Given the description of an element on the screen output the (x, y) to click on. 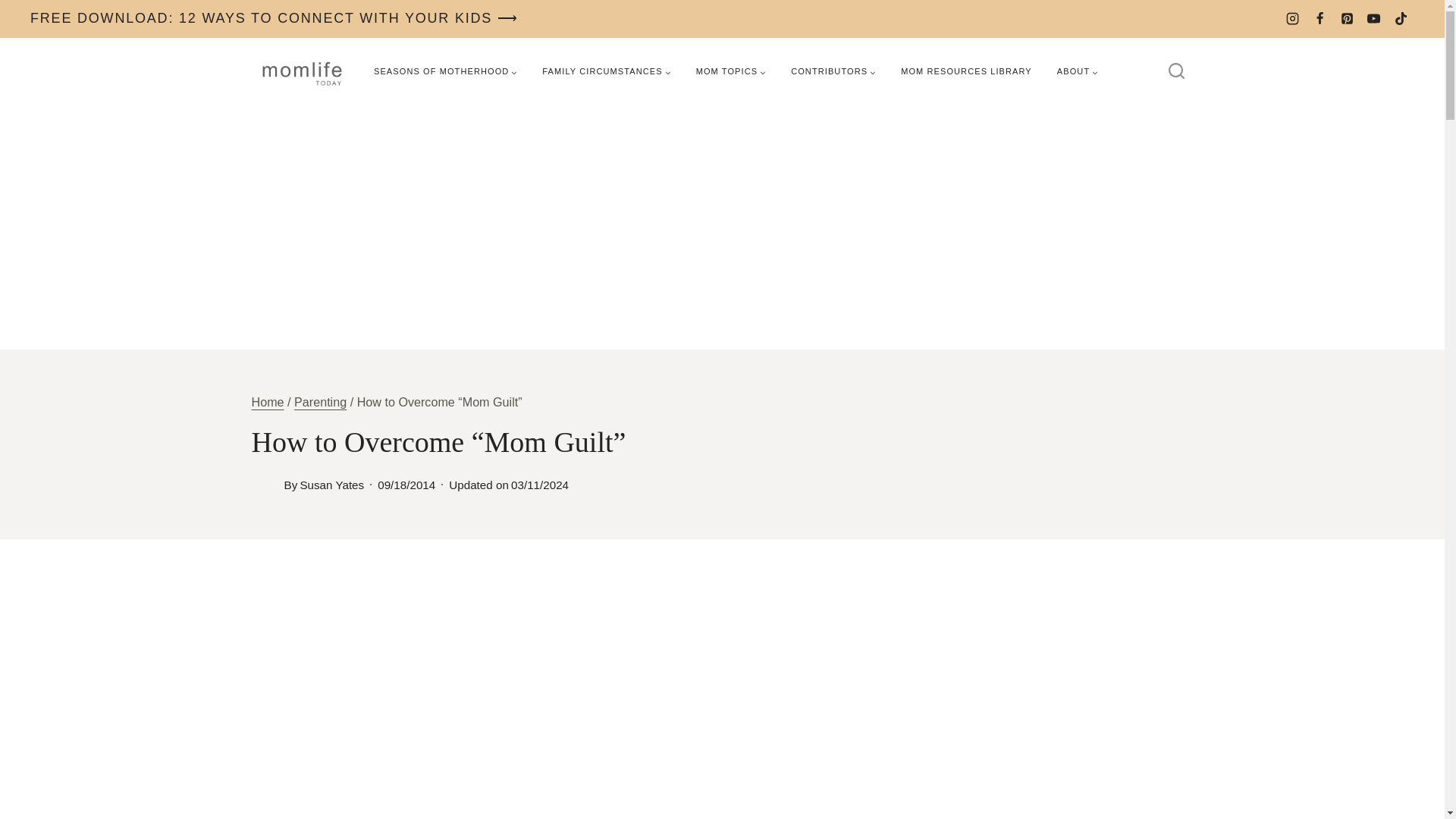
ABOUT (1076, 71)
SEASONS OF MOTHERHOOD (445, 71)
MOM TOPICS (730, 71)
FAMILY CIRCUMSTANCES (605, 71)
CONTRIBUTORS (833, 71)
MOM RESOURCES LIBRARY (966, 71)
